Given the description of an element on the screen output the (x, y) to click on. 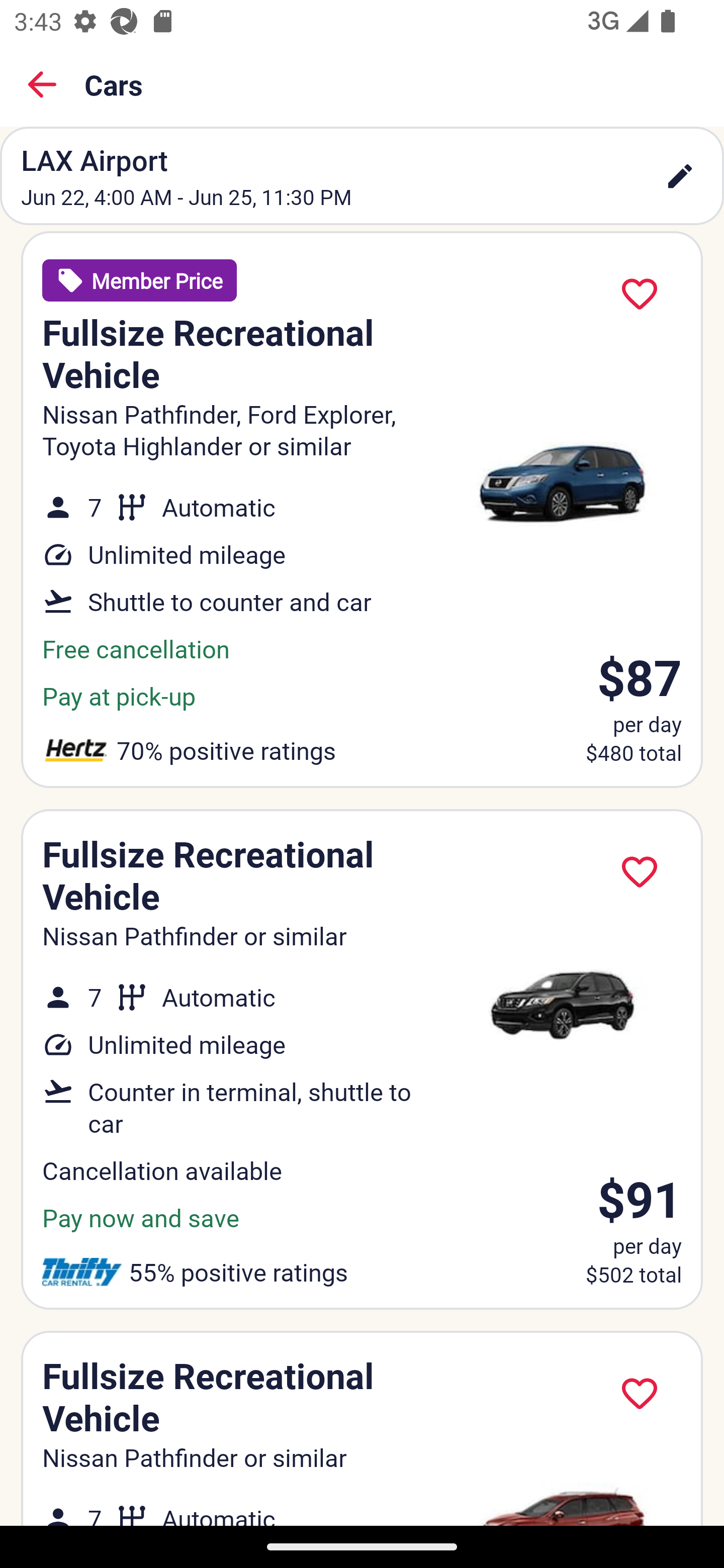
Back (42, 84)
edit (679, 175)
